Given the description of an element on the screen output the (x, y) to click on. 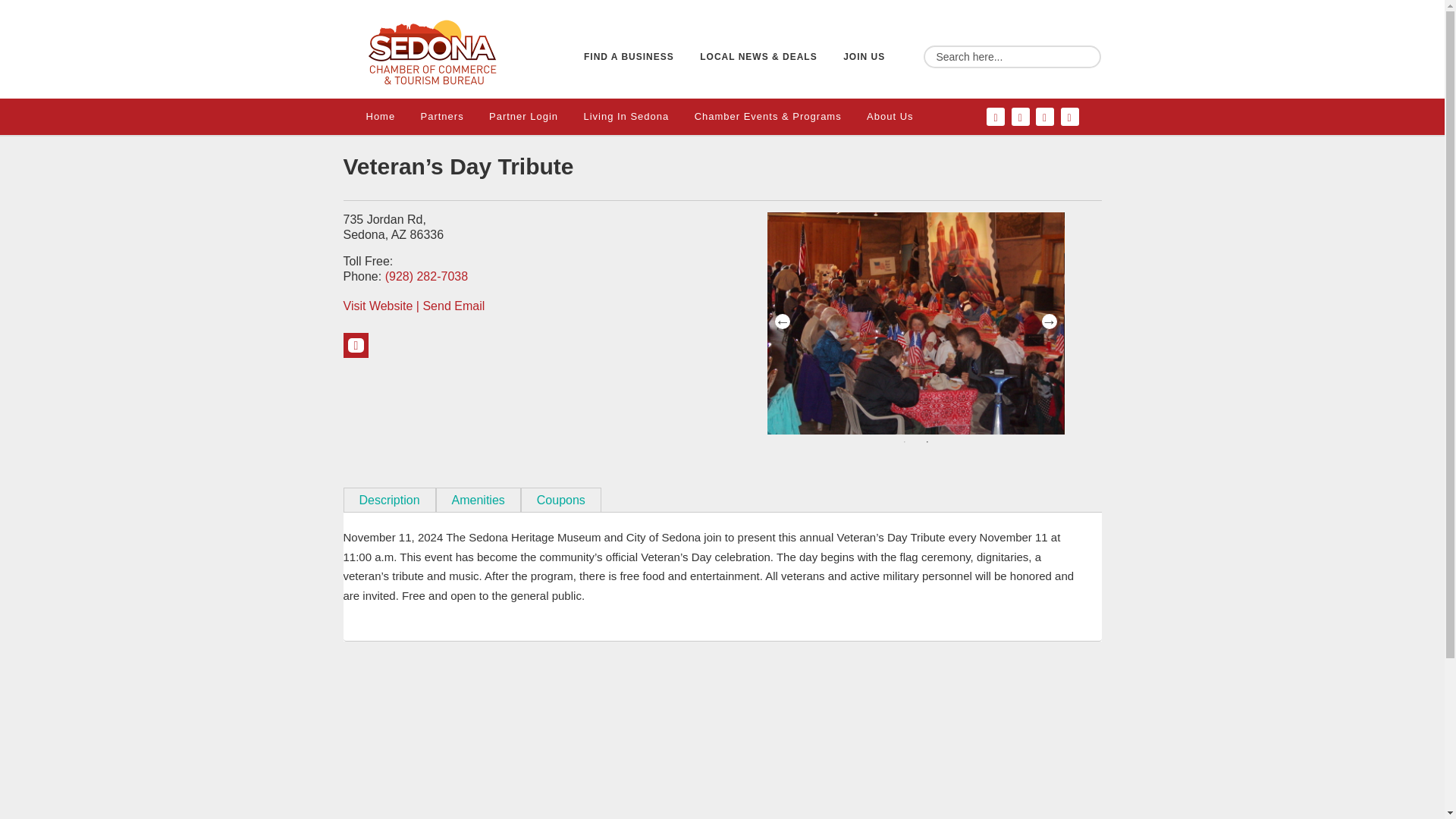
Search here... (1011, 56)
Sedona Chamber of Commerce (431, 50)
Search here... (1011, 56)
